Given the description of an element on the screen output the (x, y) to click on. 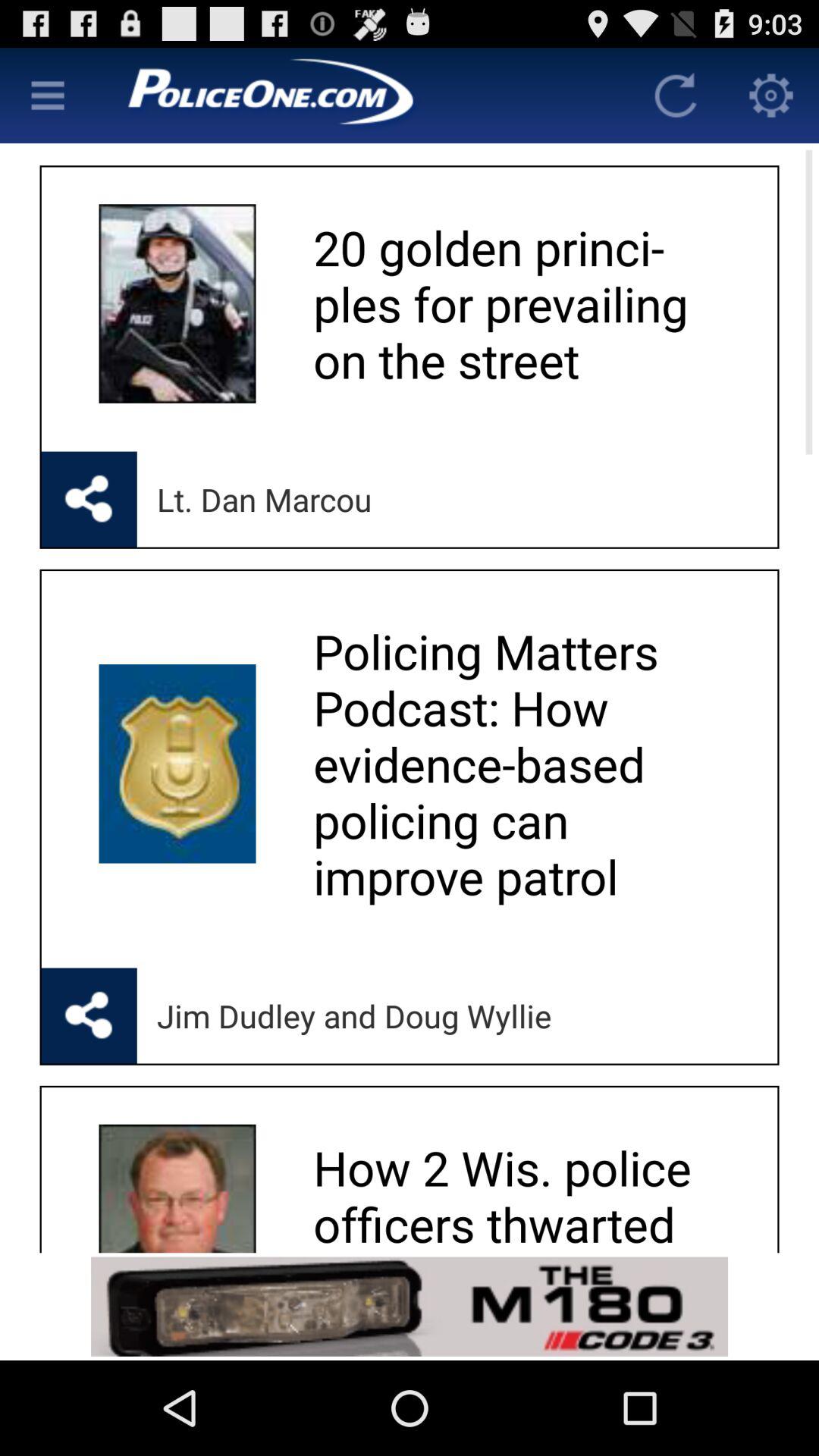
go back to previous page (675, 95)
